Given the description of an element on the screen output the (x, y) to click on. 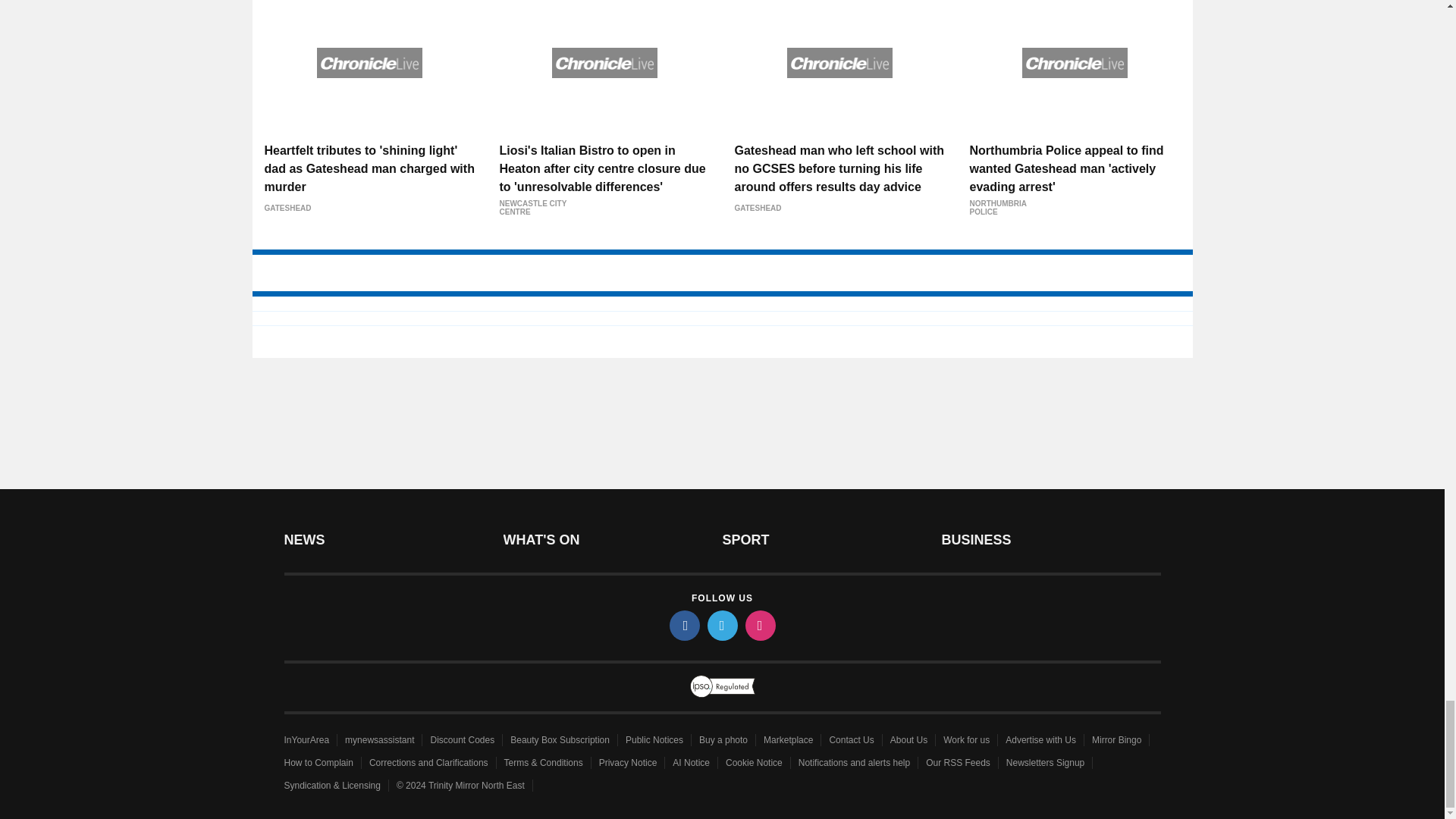
twitter (721, 625)
facebook (683, 625)
instagram (759, 625)
